Given the description of an element on the screen output the (x, y) to click on. 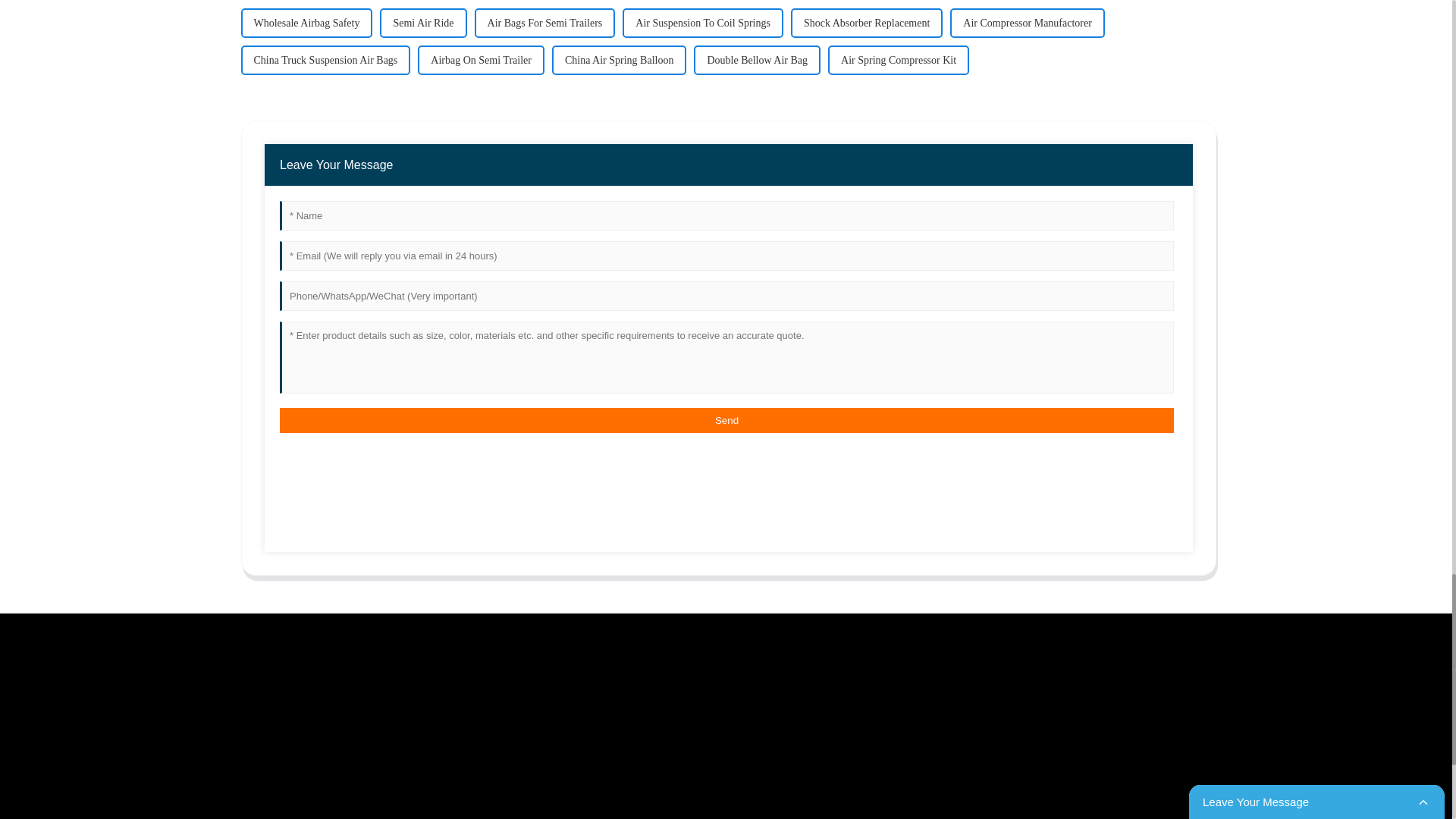
Air Suspension To Coil Springs (702, 22)
Semi Air Ride (422, 22)
Air Bags For Semi Trailers (544, 22)
Shock Absorber Replacement (866, 22)
Semi Air Ride (422, 22)
Air Compressor Manufactorer (1027, 22)
Wholesale Airbag Safety (306, 22)
Wholesale Airbag Safety (306, 22)
